Given the description of an element on the screen output the (x, y) to click on. 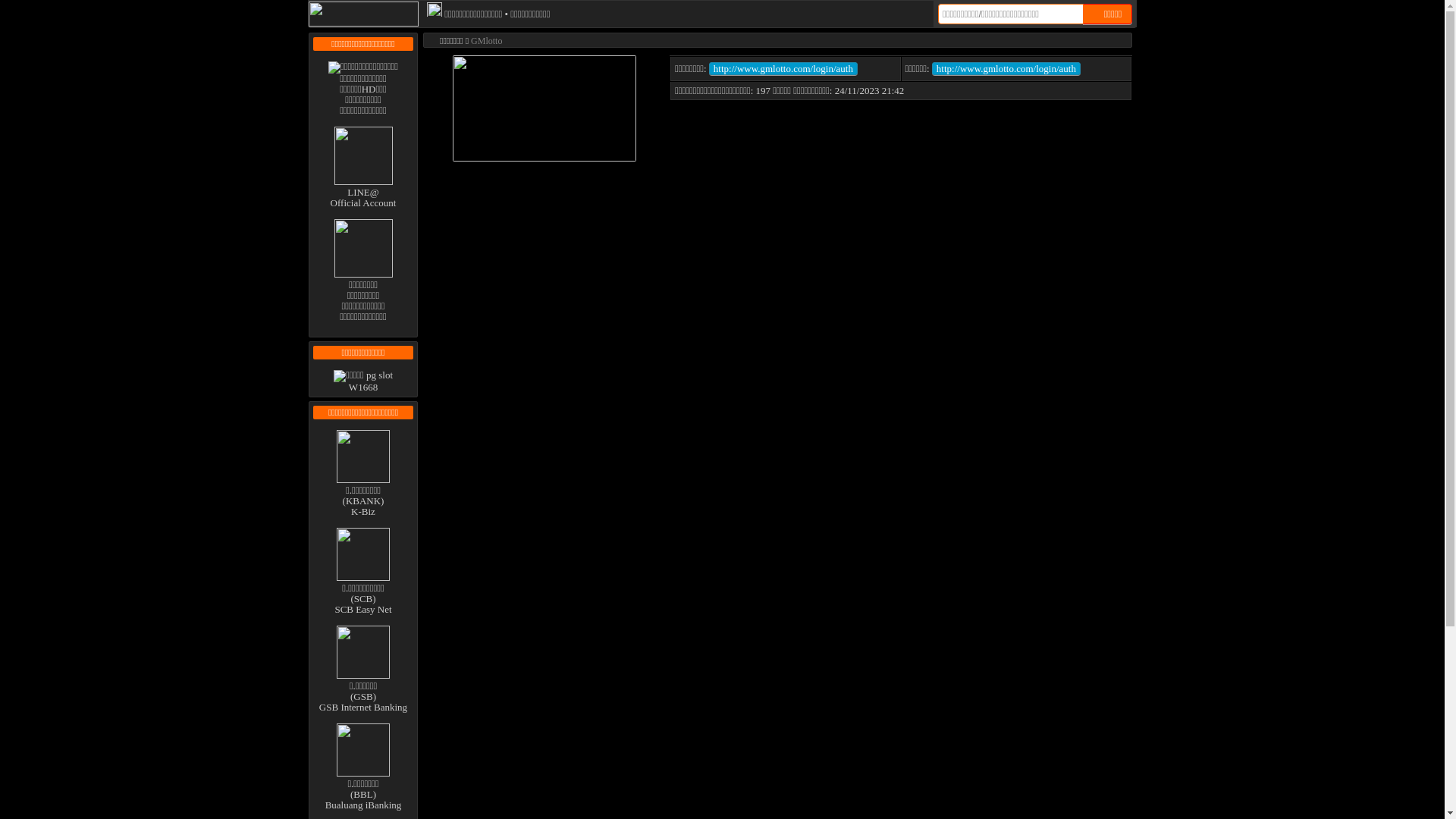
LINE@
Official Account Element type: text (363, 191)
W1668 Element type: text (362, 380)
http://www.gmlotto.com/login/auth Element type: text (783, 68)
http://www.gmlotto.com/login/auth Element type: text (1005, 68)
